Given the description of an element on the screen output the (x, y) to click on. 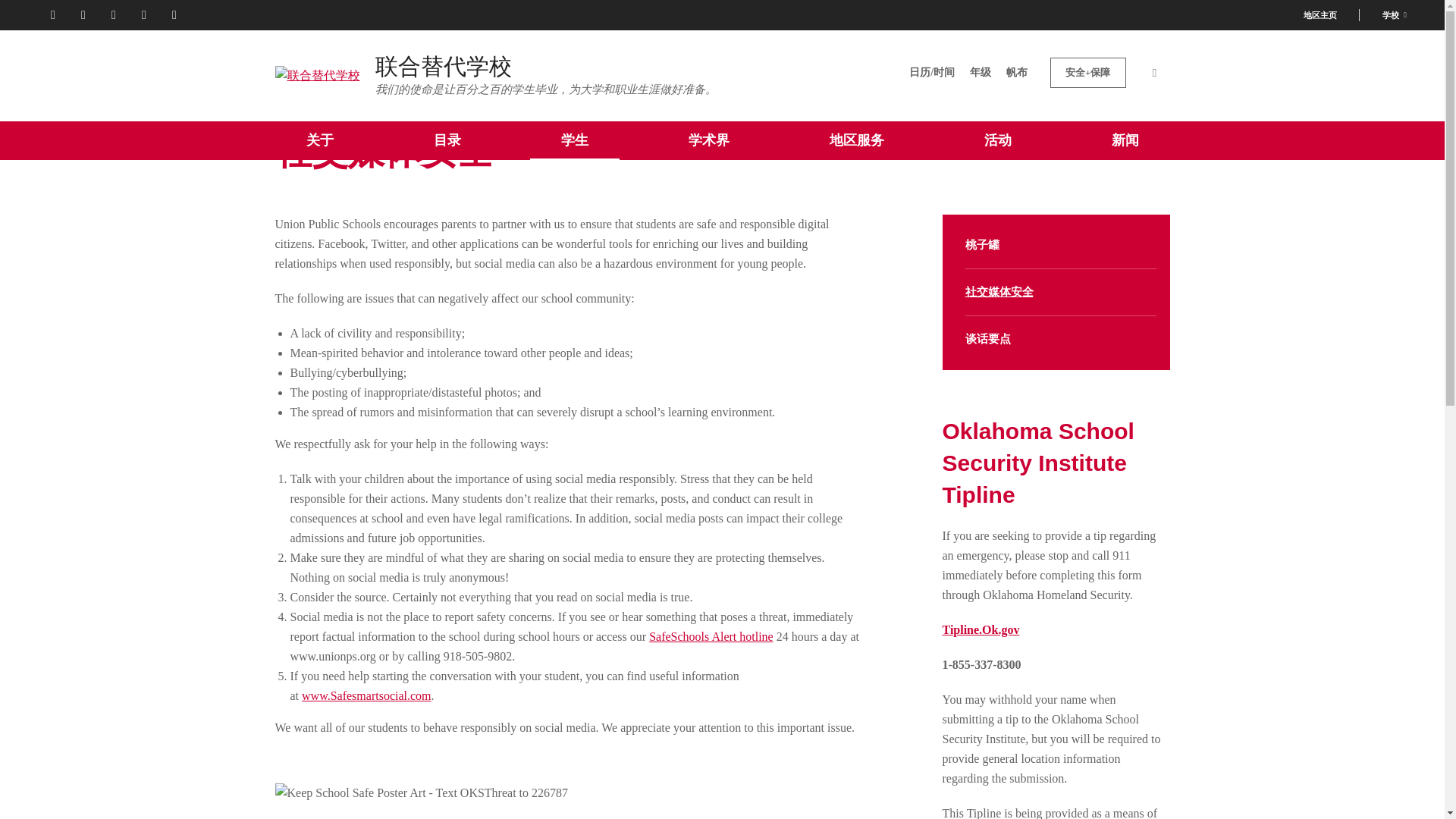
www.Safesmartsocial.com (365, 695)
Tipline.Ok.gov (980, 629)
